Given the description of an element on the screen output the (x, y) to click on. 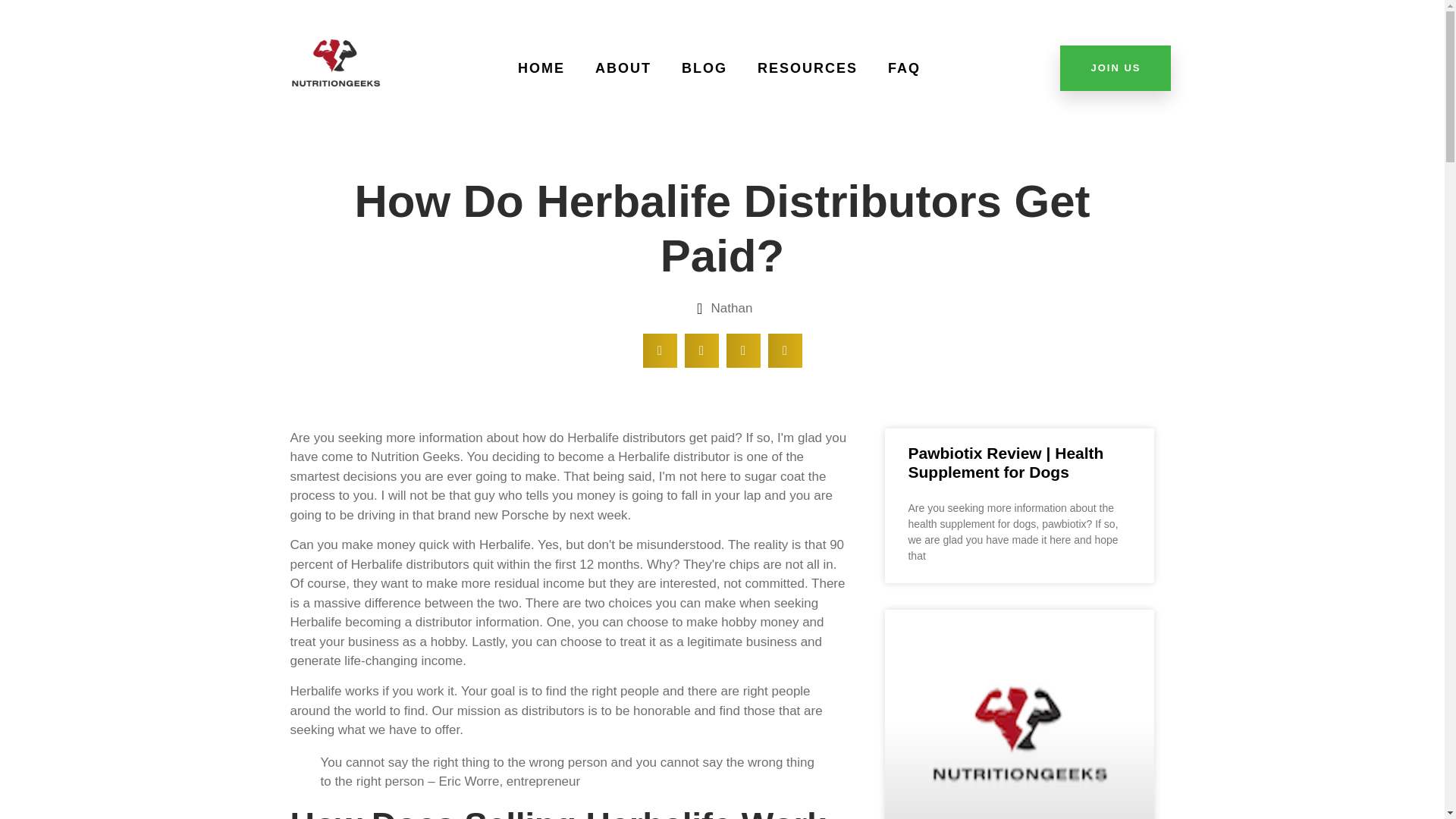
ABOUT (622, 68)
JOIN US (1114, 67)
Nathan (722, 308)
RESOURCES (807, 68)
